Given the description of an element on the screen output the (x, y) to click on. 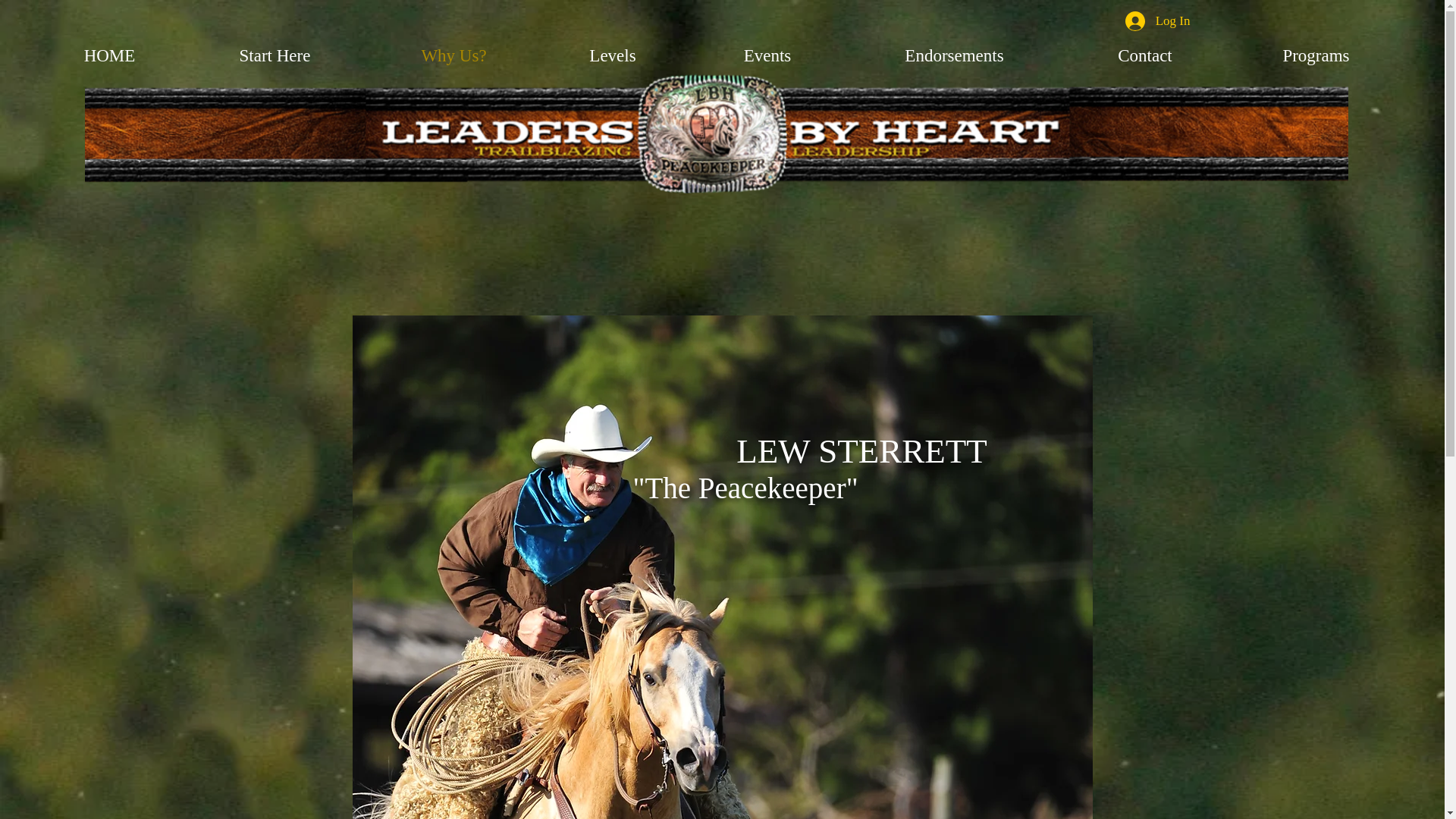
Contact (1144, 55)
Programs (1316, 55)
Events (766, 55)
Why Us? (454, 55)
Log In (1158, 21)
Start Here (275, 55)
Endorsements (953, 55)
Levels (612, 55)
HOME (109, 55)
